Given the description of an element on the screen output the (x, y) to click on. 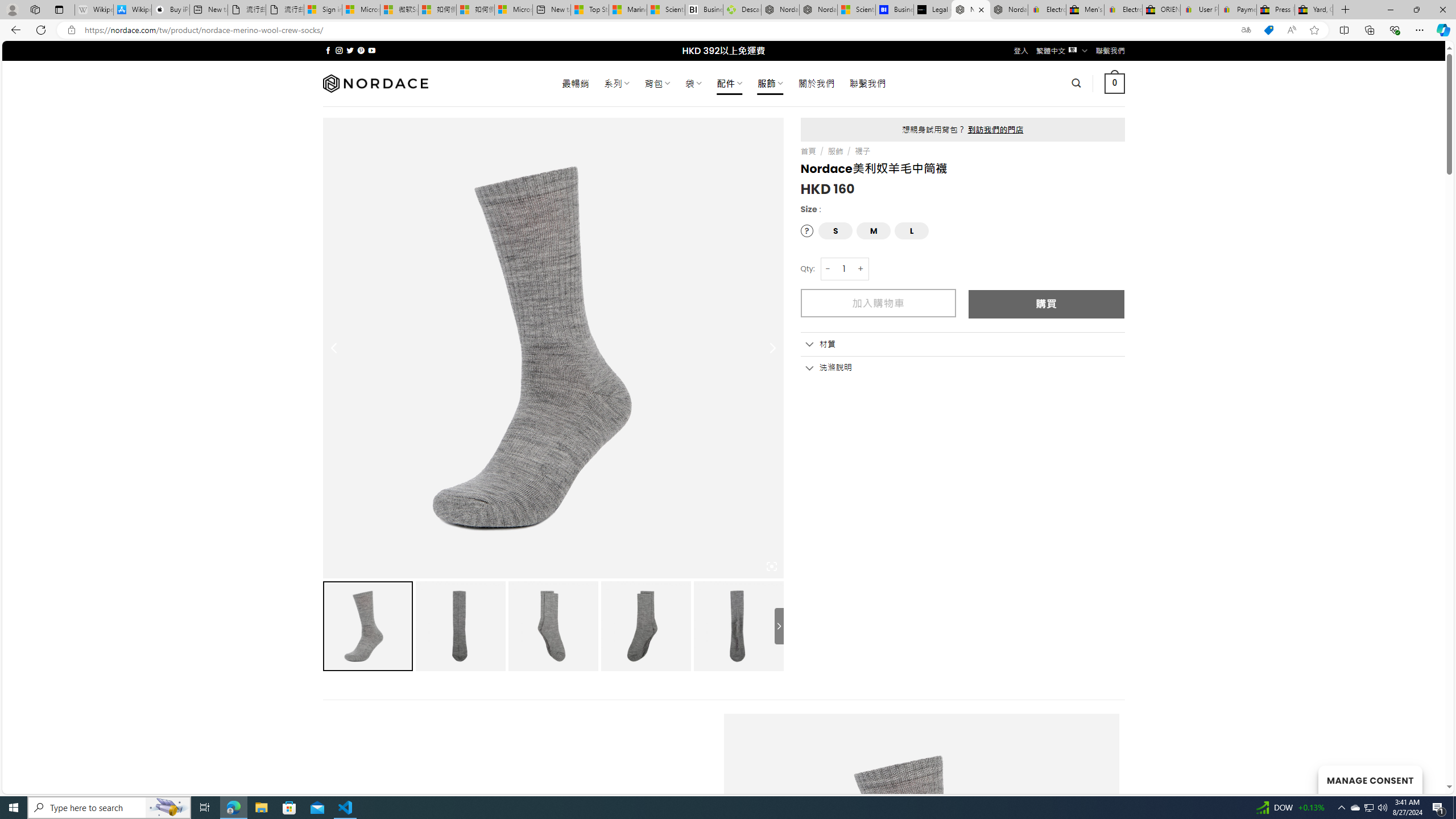
  0   (1115, 83)
Payments Terms of Use | eBay.com (1237, 9)
Follow on Pinterest (360, 50)
Follow on Twitter (349, 50)
- (827, 268)
Press Room - eBay Inc. (1276, 9)
Buy iPad - Apple (171, 9)
